Given the description of an element on the screen output the (x, y) to click on. 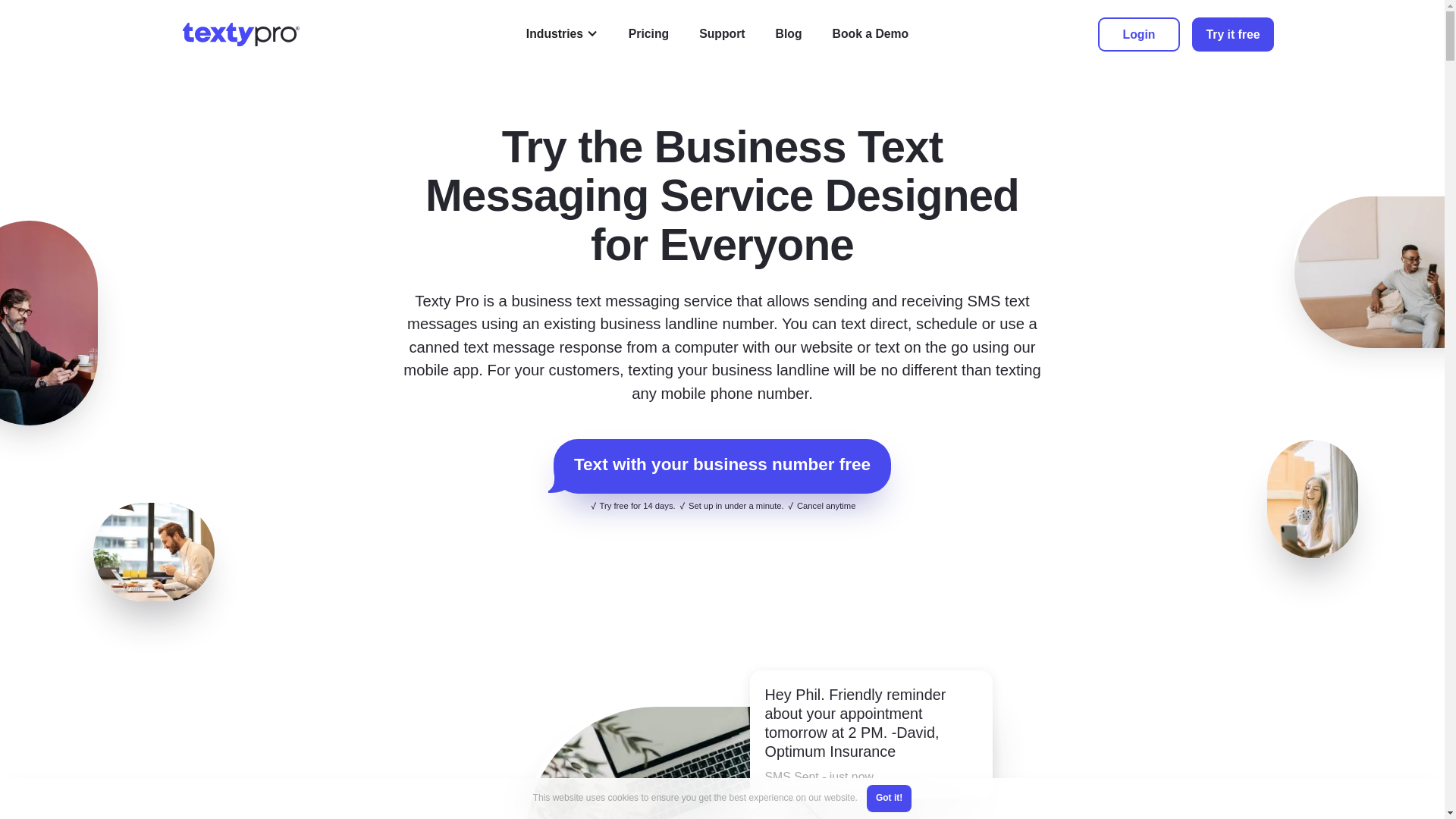
Blog (788, 33)
Pricing (648, 33)
Support (722, 33)
Path 2 (559, 480)
Try it free (1233, 33)
Login (1138, 33)
Book a Demo (870, 33)
